Given the description of an element on the screen output the (x, y) to click on. 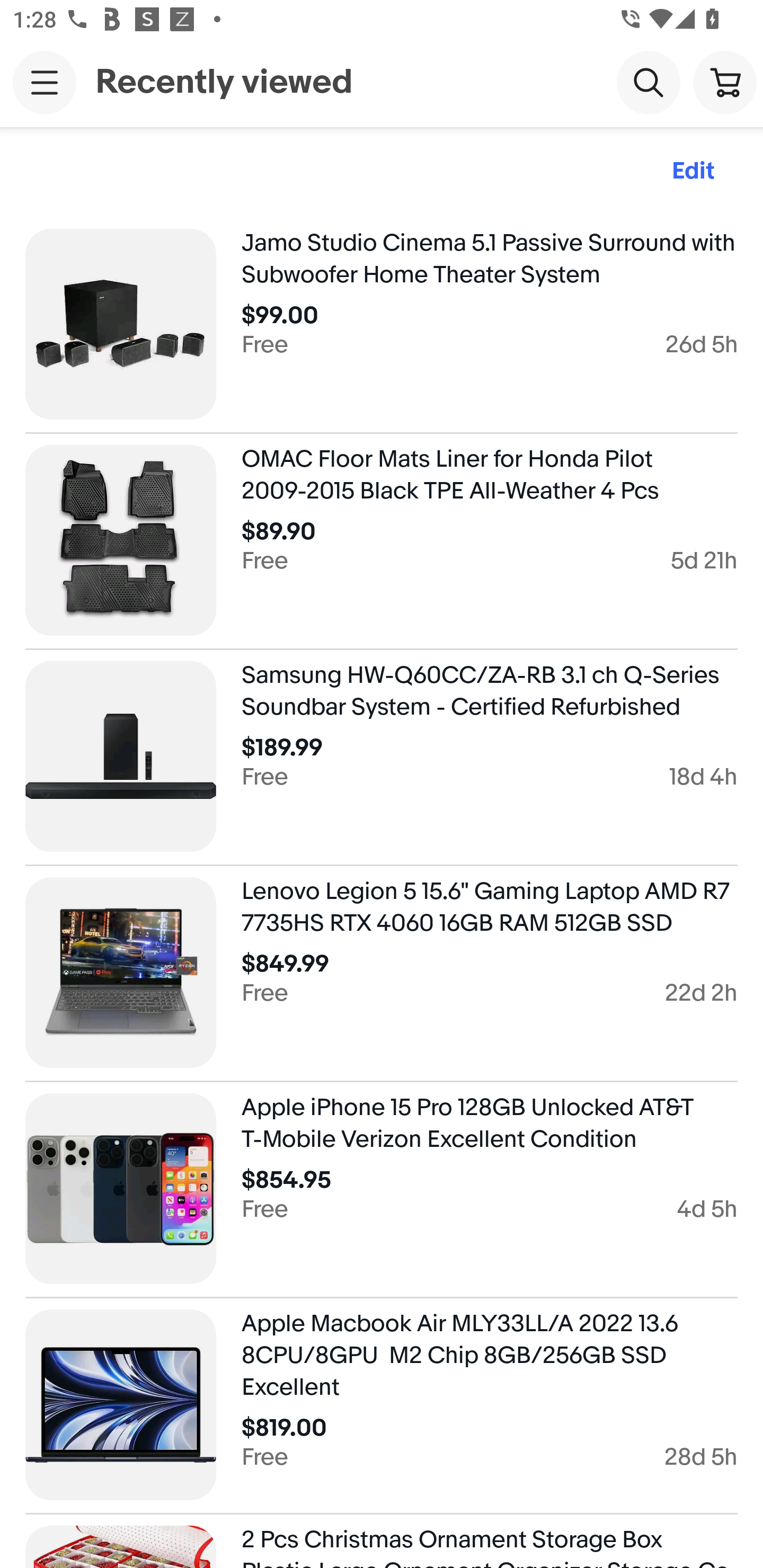
Main navigation, open (44, 82)
Search (648, 81)
Cart button shopping cart (724, 81)
Edit (693, 171)
